Given the description of an element on the screen output the (x, y) to click on. 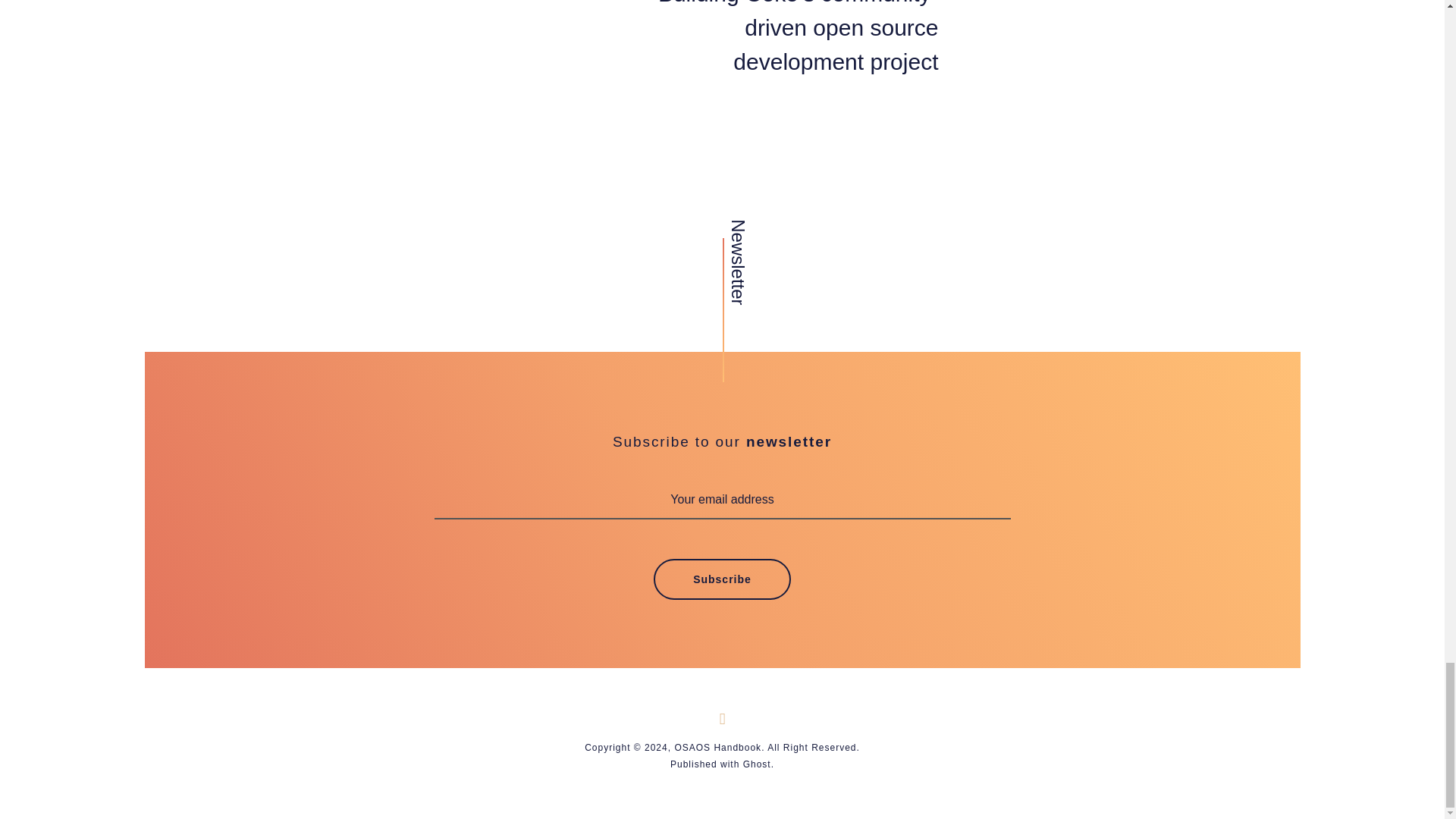
Ghost (756, 764)
OSAOS Handbook (717, 747)
Subscribe (721, 578)
